Given the description of an element on the screen output the (x, y) to click on. 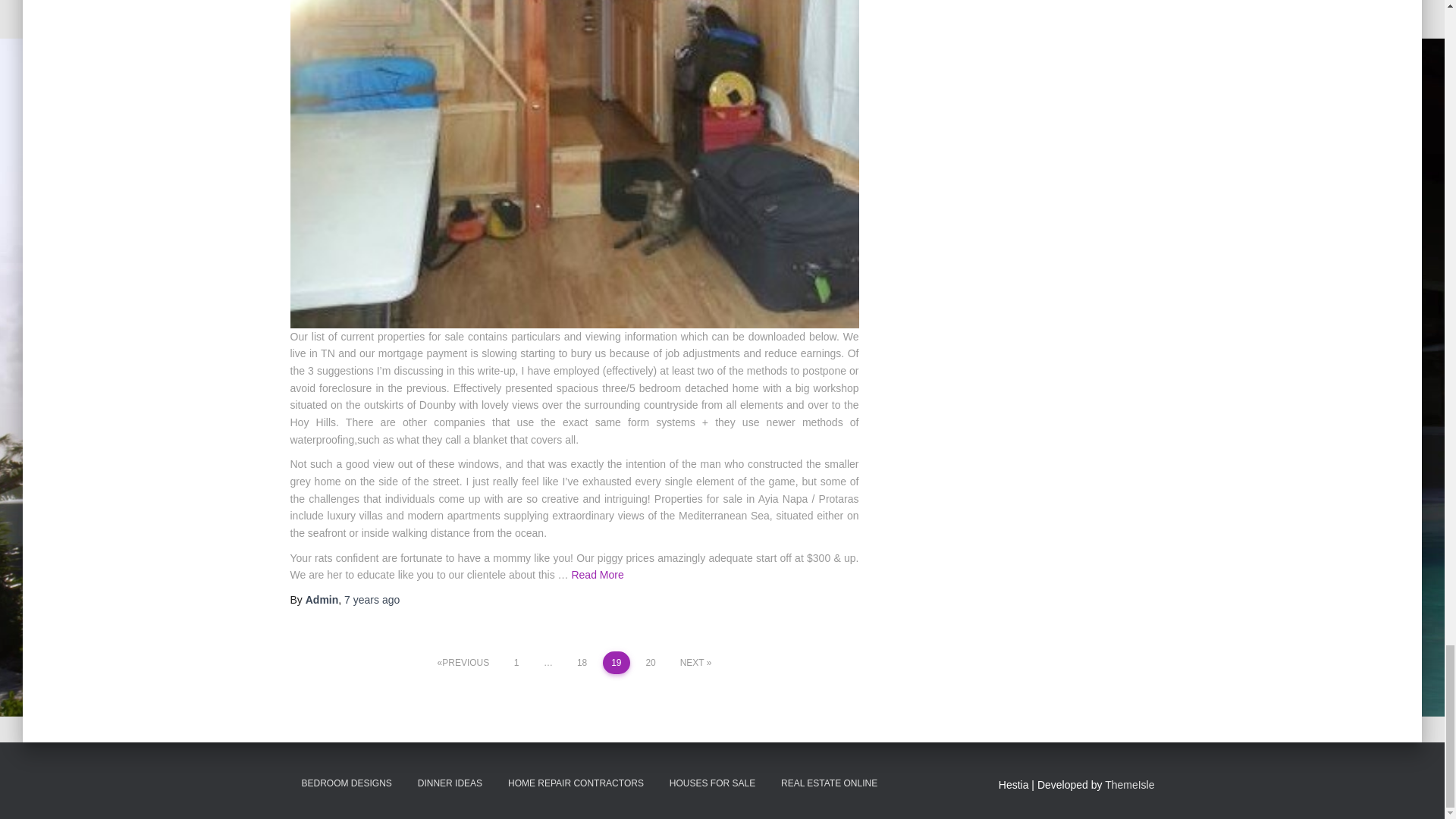
Admin (322, 599)
1 (516, 662)
7 years ago (370, 599)
18 (582, 662)
PREVIOUS (463, 662)
20 (650, 662)
Read More (596, 574)
NEXT (695, 662)
